Given the description of an element on the screen output the (x, y) to click on. 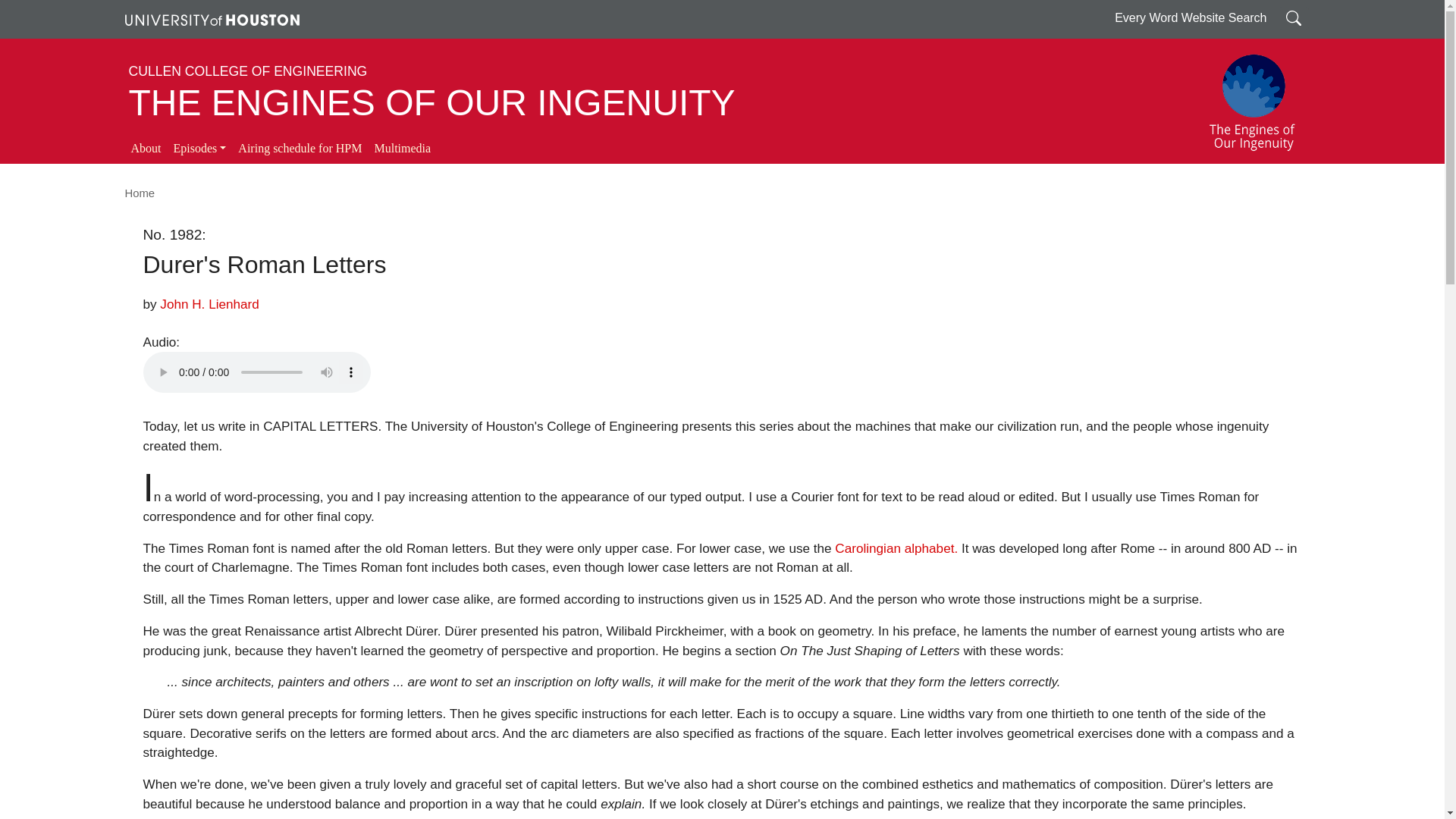
Airing schedule for HPM (299, 148)
Home (138, 193)
Multimedia (402, 148)
About (145, 148)
Enter the terms you wish to search for. (1293, 17)
Airing schedule for HPM (299, 148)
Episodes (199, 148)
Multimedia (402, 148)
THE ENGINES OF OUR INGENUITY (432, 102)
About (145, 148)
John H. Lienhard (209, 304)
CULLEN COLLEGE OF ENGINEERING (248, 70)
Carolingian alphabet. (896, 548)
Episodes (199, 148)
